Given the description of an element on the screen output the (x, y) to click on. 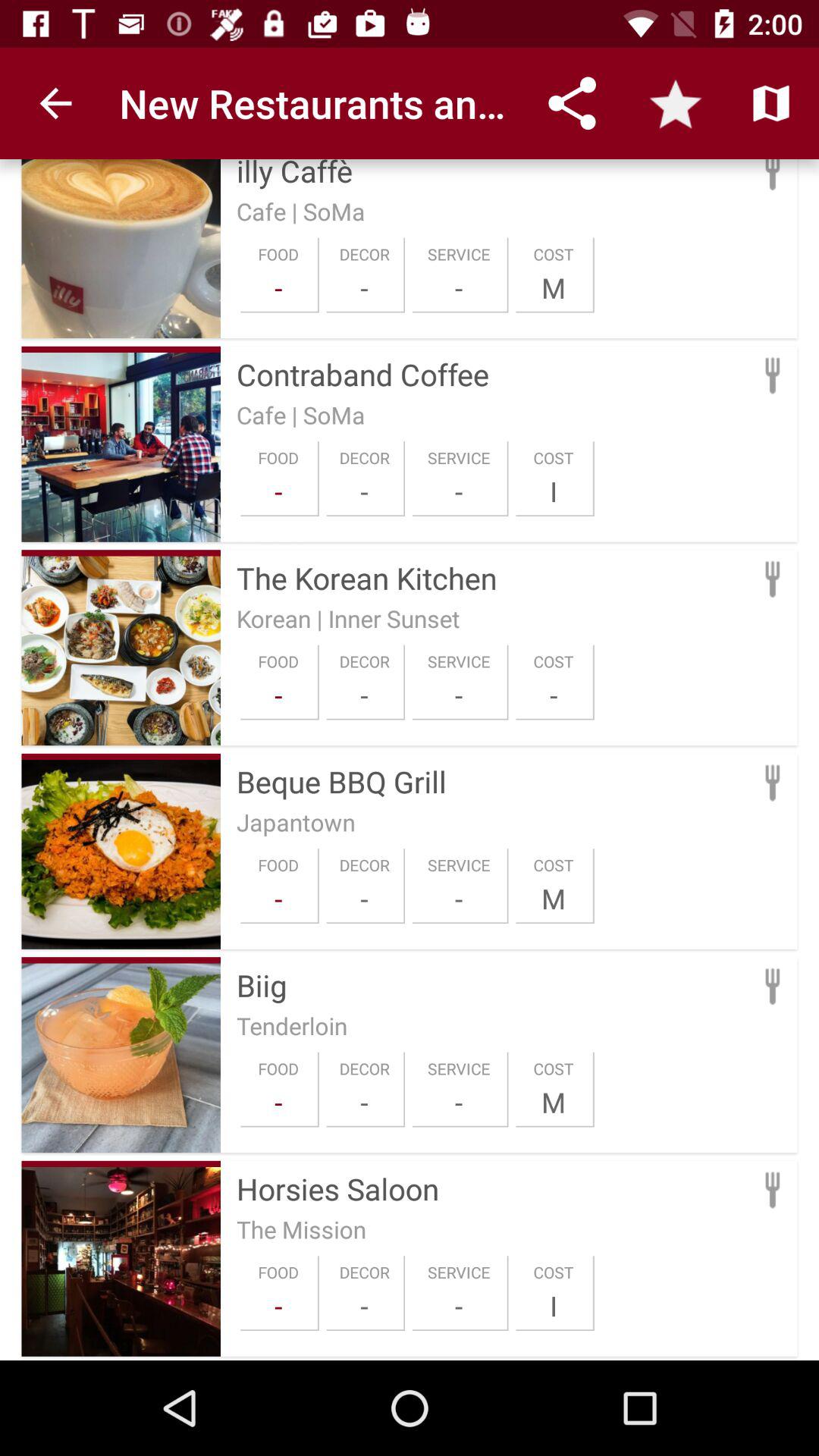
select item below the service item (458, 1102)
